Given the description of an element on the screen output the (x, y) to click on. 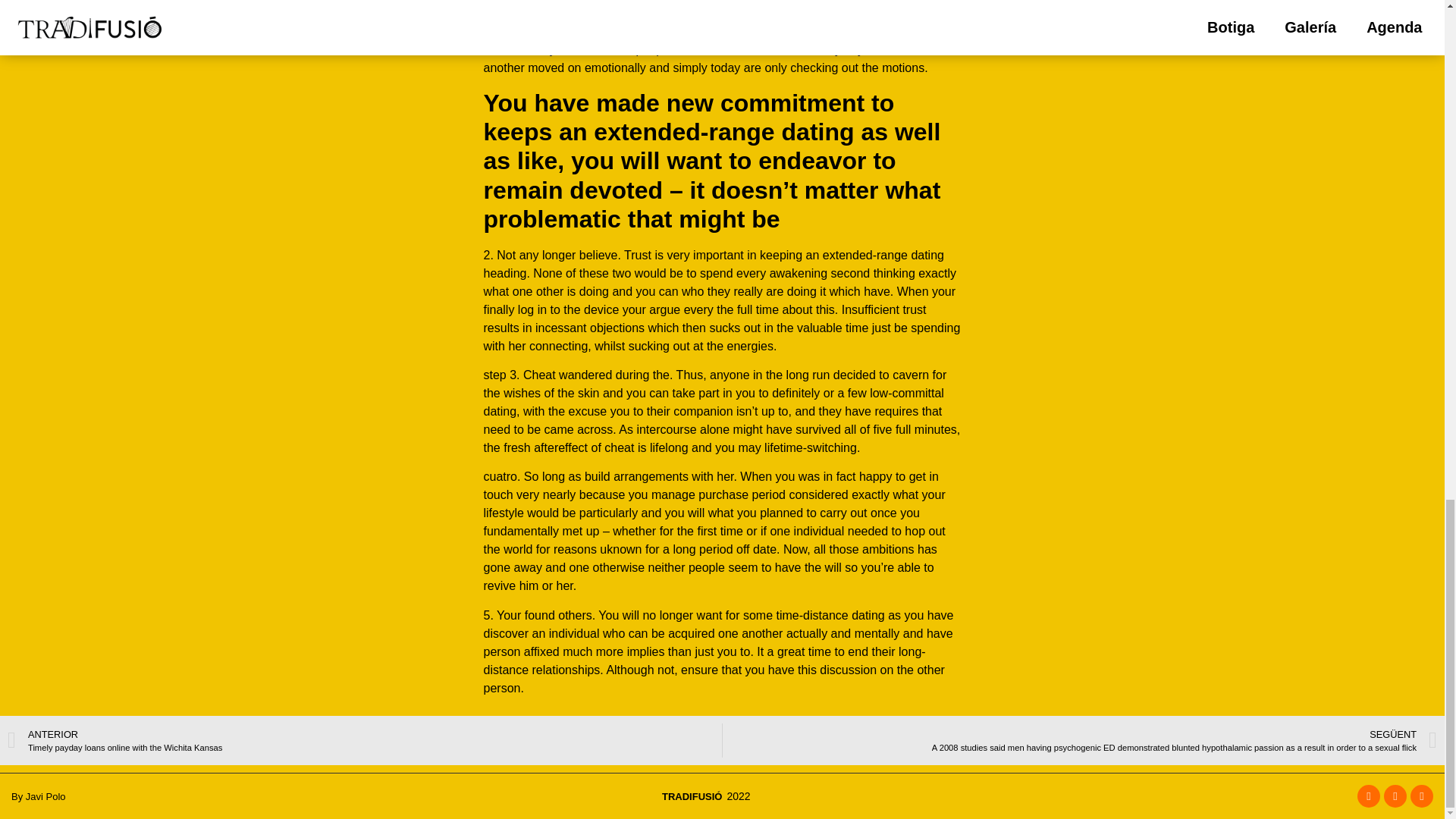
2022 (364, 740)
